Given the description of an element on the screen output the (x, y) to click on. 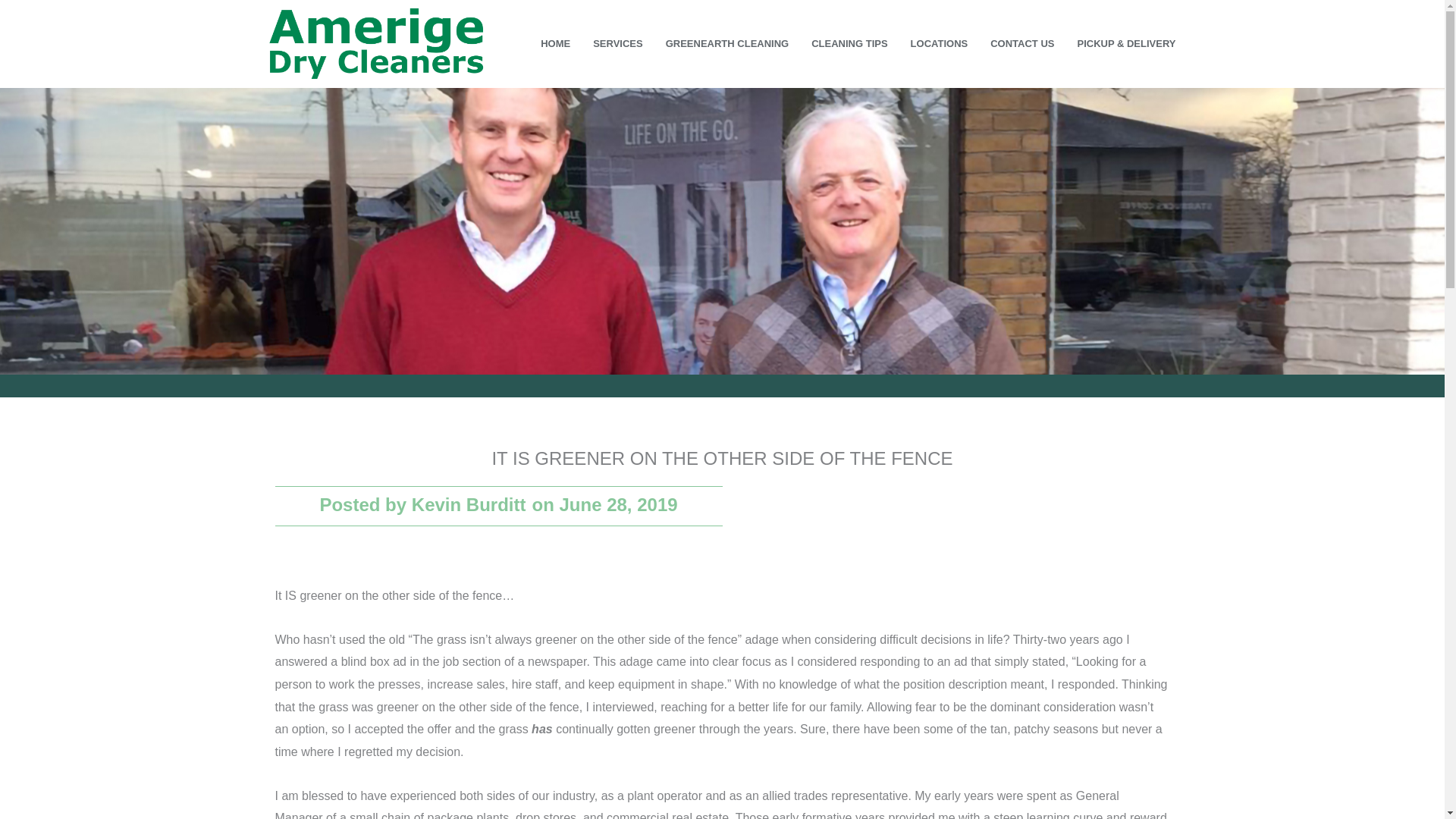
SERVICES (618, 43)
CLEANING TIPS (848, 43)
GREENEARTH CLEANING (726, 43)
CONTACT US (1021, 43)
LOCATIONS (938, 43)
HOME (555, 43)
